Given the description of an element on the screen output the (x, y) to click on. 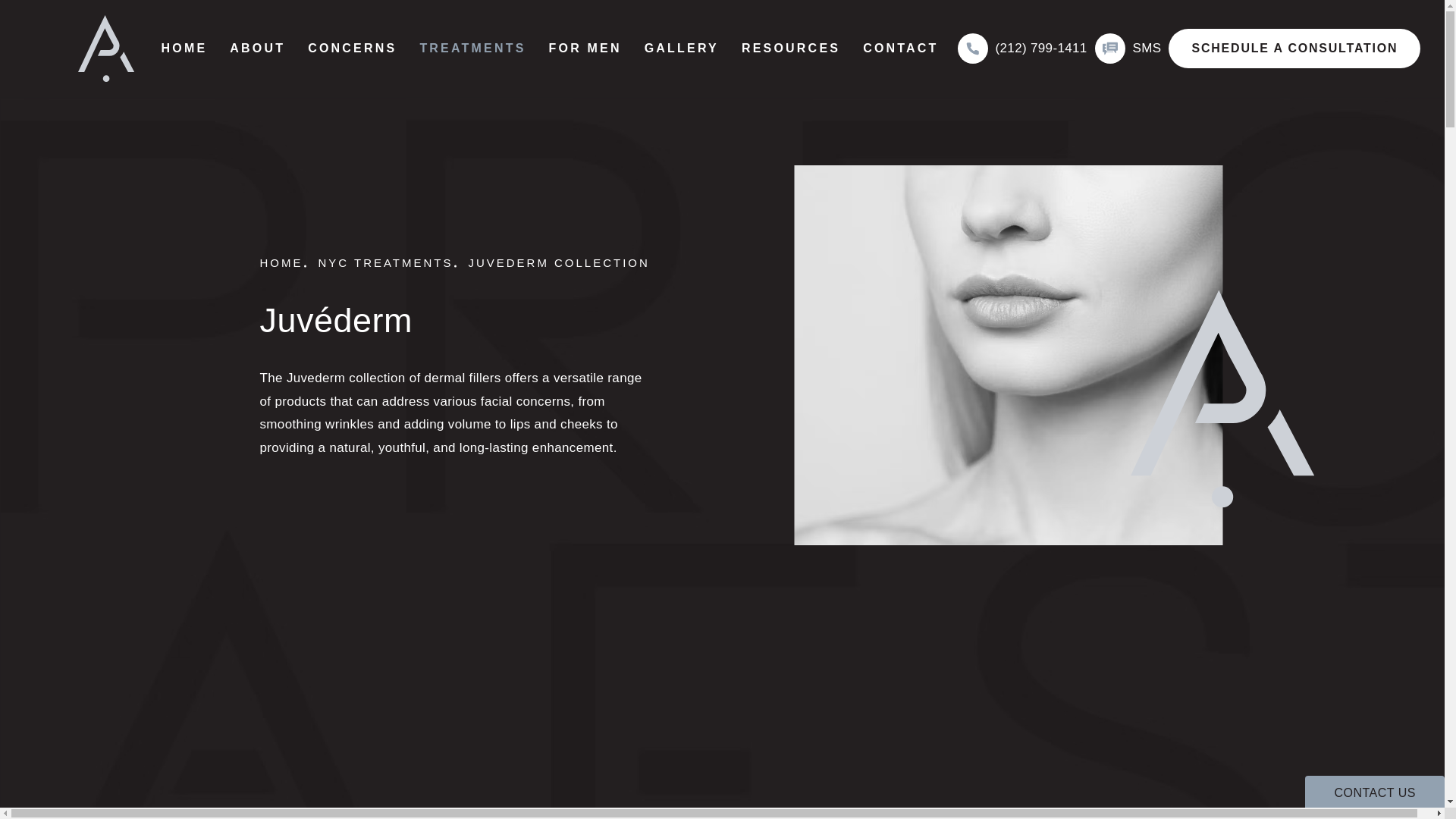
Precision Aesthetics MD on Instagram (199, 606)
ABOUT (257, 48)
TREATMENTS (472, 48)
CONCERNS (352, 48)
HOME (184, 48)
Precision Aesthetics MD on Facebook (235, 606)
